Given the description of an element on the screen output the (x, y) to click on. 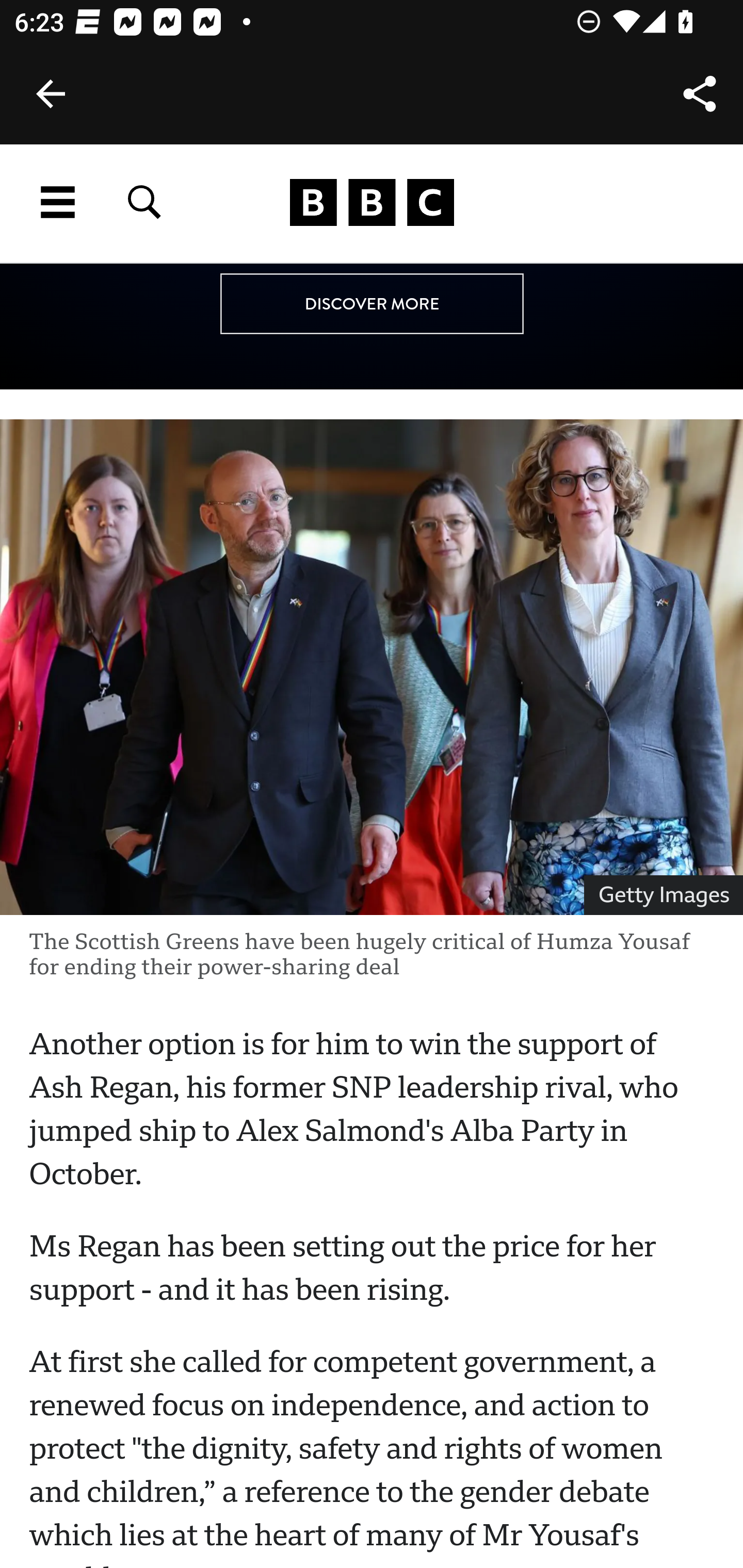
Back (50, 93)
Share (699, 93)
www.bbc (371, 203)
DISCOVER MORE (371, 303)
